Given the description of an element on the screen output the (x, y) to click on. 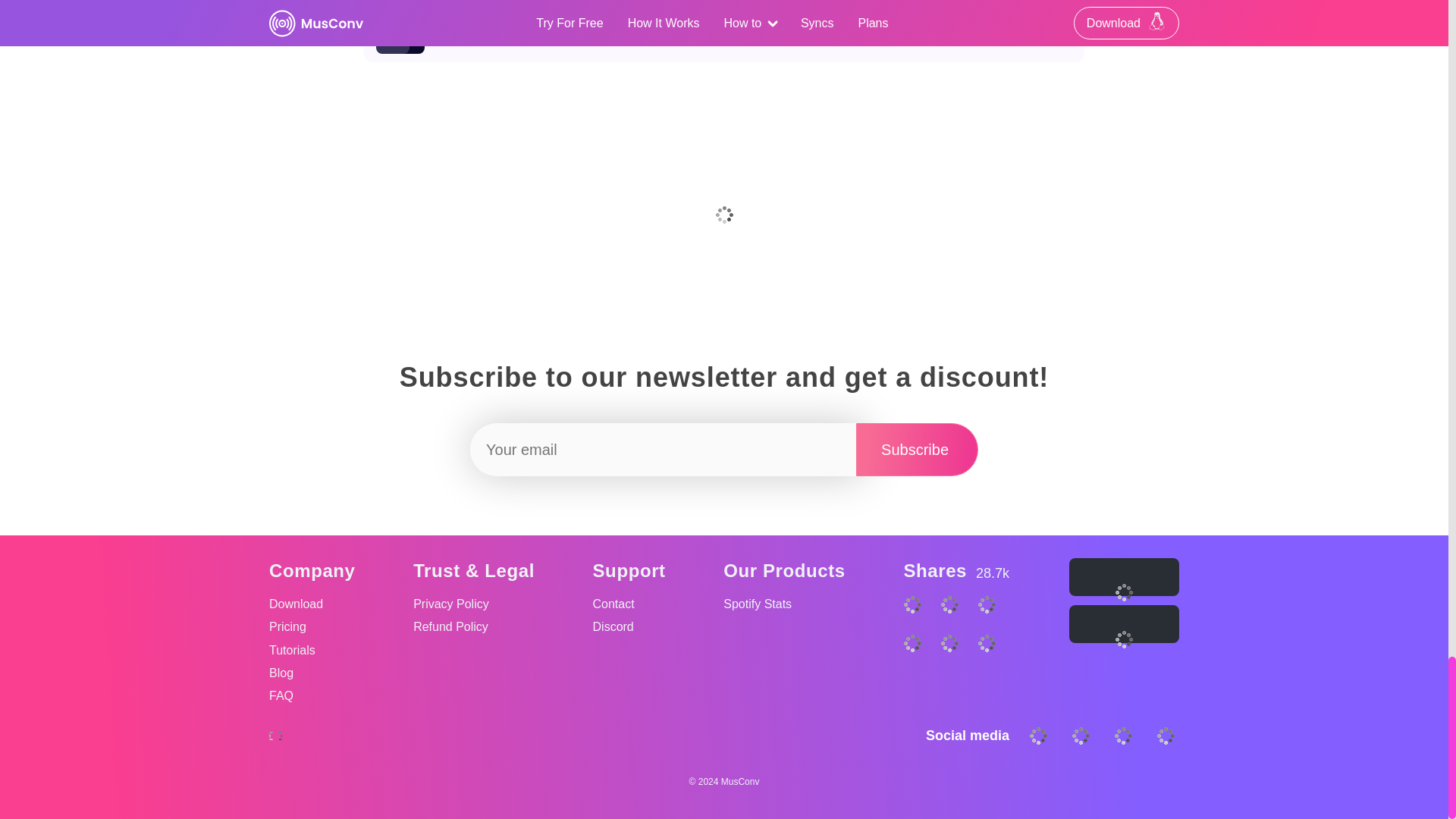
Subscribe (917, 449)
Download (312, 604)
Share on Pinterest (919, 662)
Subscribe (993, 625)
Share on Facebook (917, 449)
Share on LinkedIn (957, 625)
Share on Email (993, 662)
